Given the description of an element on the screen output the (x, y) to click on. 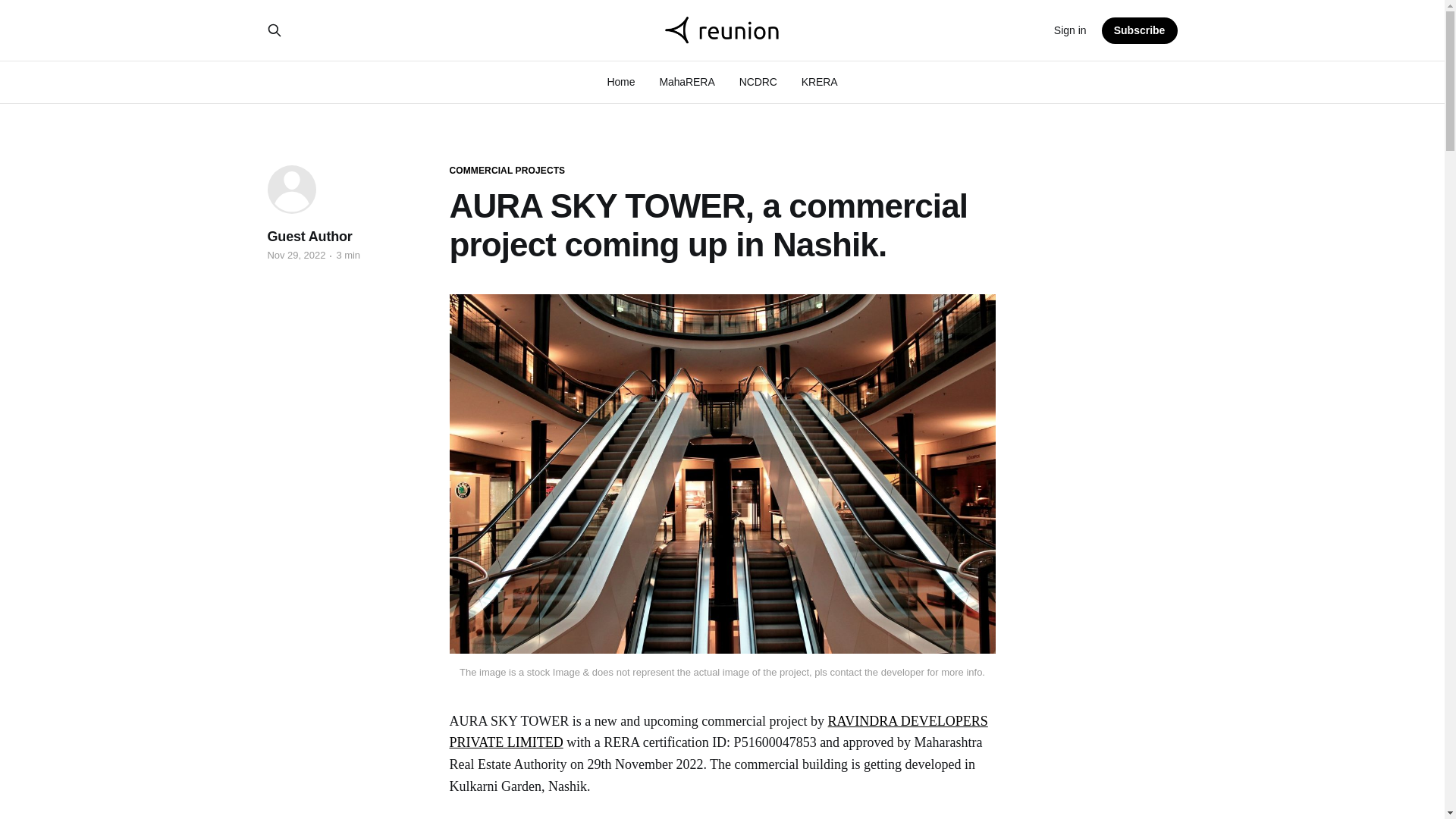
Guest Author (309, 236)
Home (620, 81)
COMMERCIAL PROJECTS (506, 170)
RAVINDRA DEVELOPERS PRIVATE LIMITED (717, 732)
MahaRERA (686, 81)
Sign in (1070, 30)
KRERA (820, 81)
NCDRC (758, 81)
Subscribe (1139, 29)
